Given the description of an element on the screen output the (x, y) to click on. 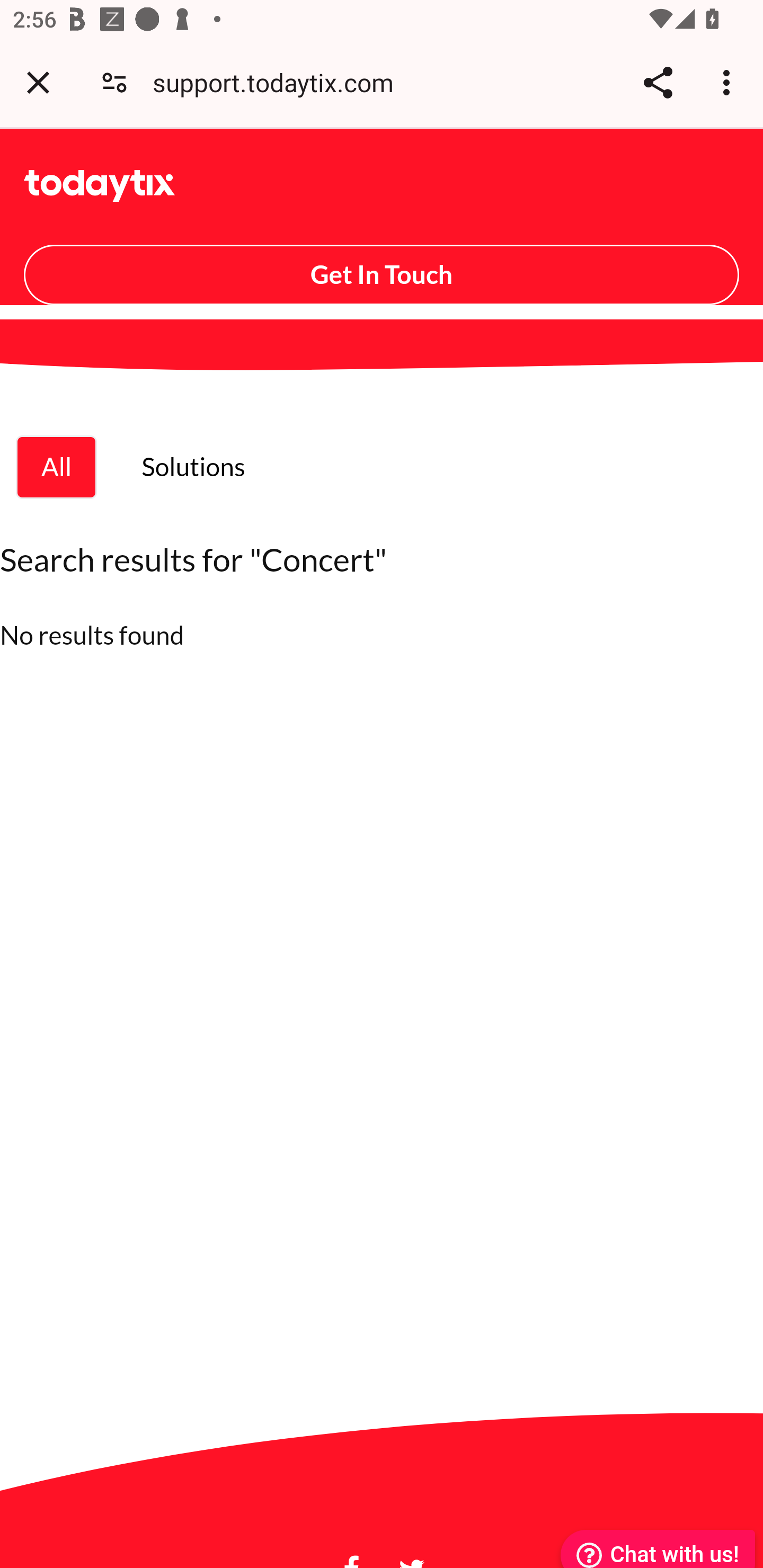
Close tab (38, 82)
Share (657, 82)
Customize and control Google Chrome (729, 82)
Connection is secure (114, 81)
support.todaytix.com (279, 81)
TodayTix White Logo (99, 185)
Get In Touch (381, 274)
All (57, 466)
Solutions (193, 466)
